Given the description of an element on the screen output the (x, y) to click on. 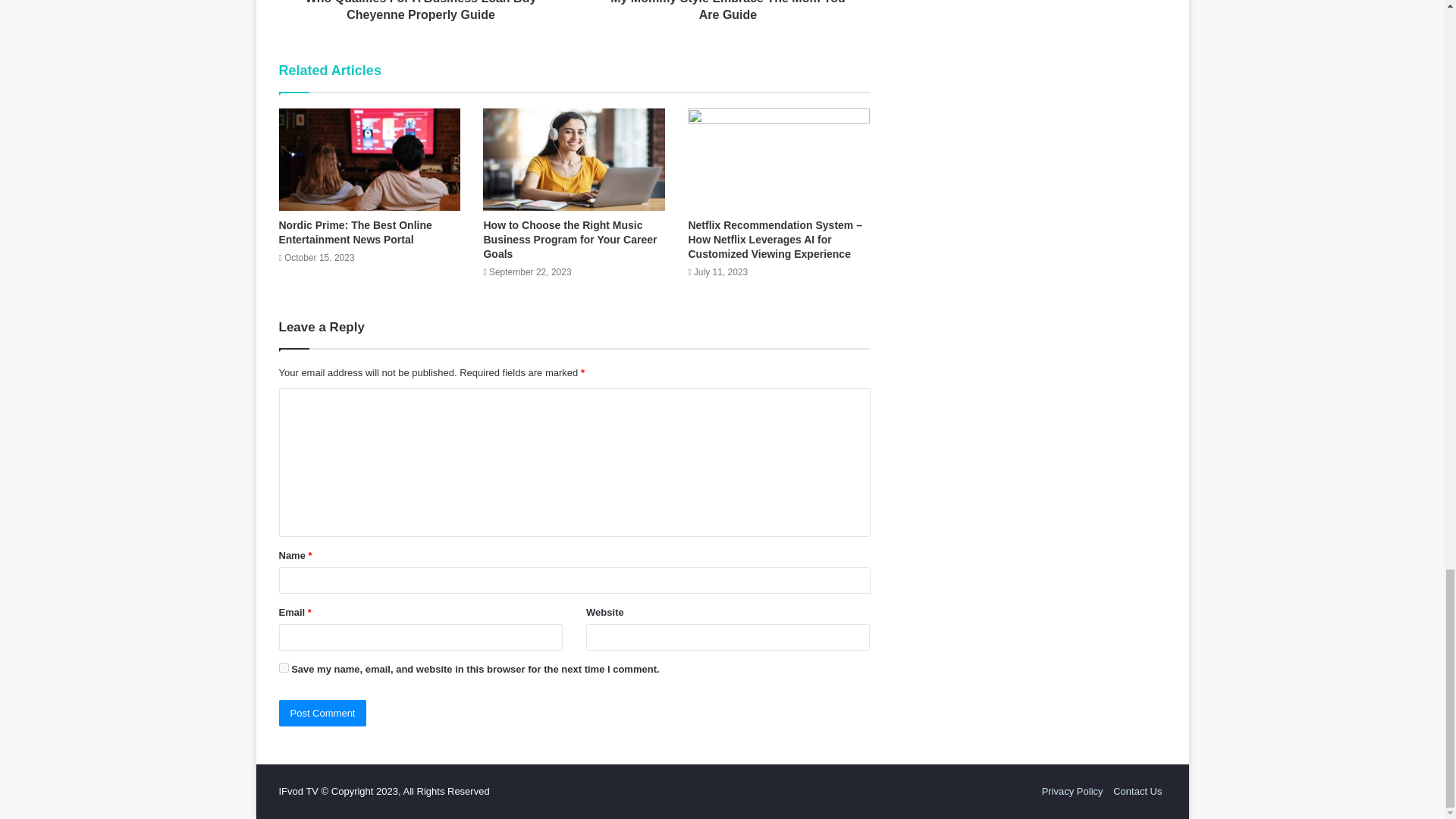
Nordic Prime: The Best Online Entertainment News Portal (355, 232)
Post Comment (322, 713)
Post Comment (322, 713)
yes (283, 667)
My Mommy Style Embrace The Mom You Are Guide (727, 11)
